Given the description of an element on the screen output the (x, y) to click on. 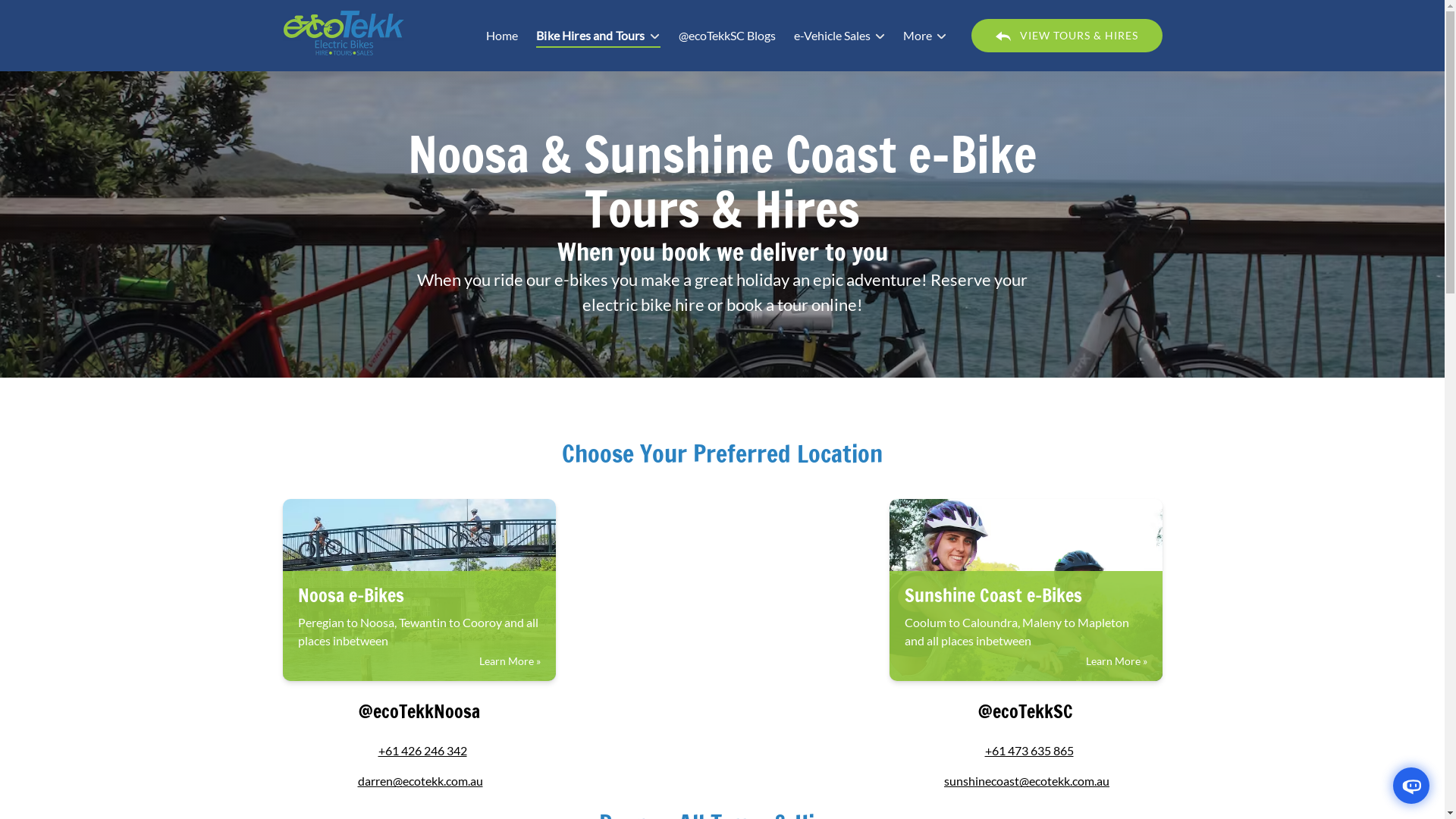
Skip to content Element type: text (46, 16)
Home Element type: text (501, 35)
More Element type: text (924, 35)
Skip to primary navigation Element type: text (75, 16)
+61 473 635 865 Element type: text (1028, 750)
@ecoTekkSC Element type: text (1025, 711)
Bike Hires and Tours Element type: text (597, 35)
e-Vehicle Sales Element type: text (839, 35)
BACK ARROW VIEW TOURS & HIRES Element type: text (1065, 35)
sunshinecoast@ecotekk.com.au Element type: text (1026, 780)
Skip to footer Element type: text (42, 16)
+61 426 246 342 Element type: text (421, 750)
darren@ecotekk.com.au Element type: text (420, 780)
@ecoTekkSC Blogs Element type: text (726, 35)
@ecoTekkNoosa Element type: text (418, 711)
